Given the description of an element on the screen output the (x, y) to click on. 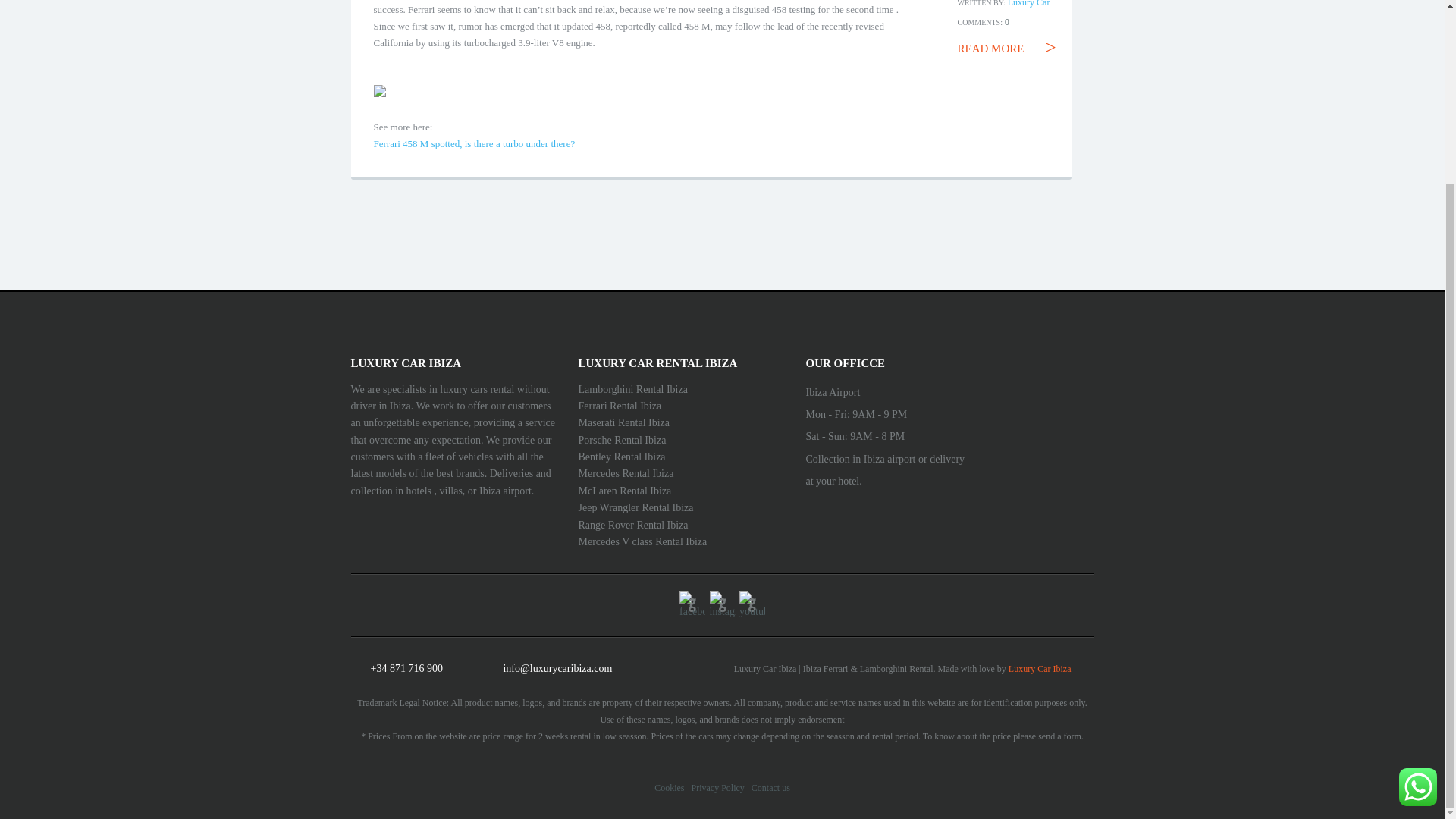
Lamborghini Rental Ibiza (632, 389)
McLaren Rental Ibiza (624, 490)
Luxury Car Ibiza (1040, 668)
Jeep Wrangler Rental Ibiza (635, 507)
Ferrari 458 M spotted, is there a turbo under there? (473, 143)
Contact us (770, 787)
Porsche Rental Ibiza (621, 439)
Privacy Policy (717, 787)
Cookies (668, 787)
Mercedes V class Rental Ibiza (642, 541)
